Given the description of an element on the screen output the (x, y) to click on. 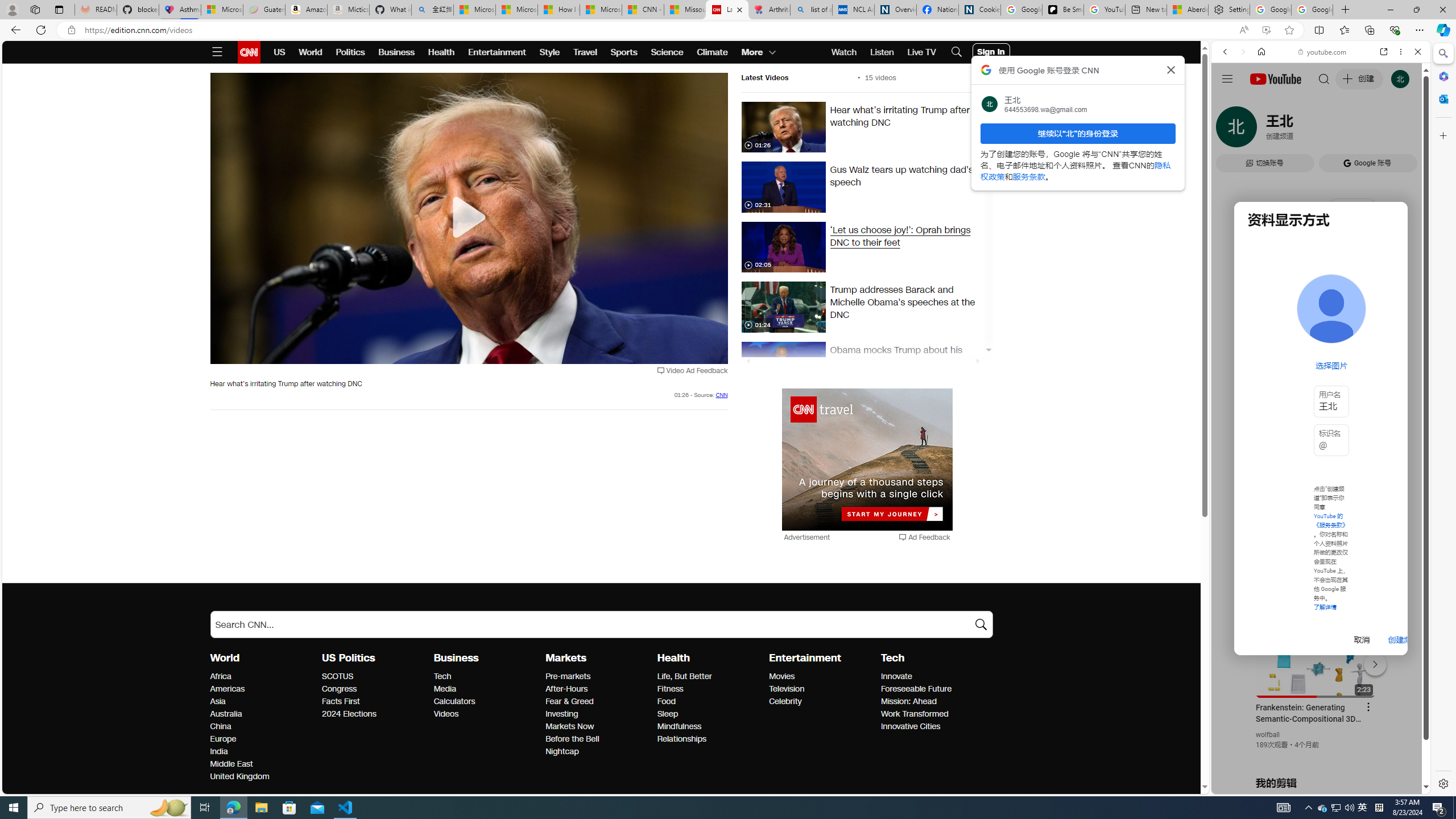
Style (549, 51)
Entertainment Movies (781, 676)
Music (1320, 309)
CNN (721, 394)
World Americas (226, 688)
Americas (262, 688)
Calculators (485, 701)
Class: Bz112c Bz112c-r9oPif (1170, 69)
